Given the description of an element on the screen output the (x, y) to click on. 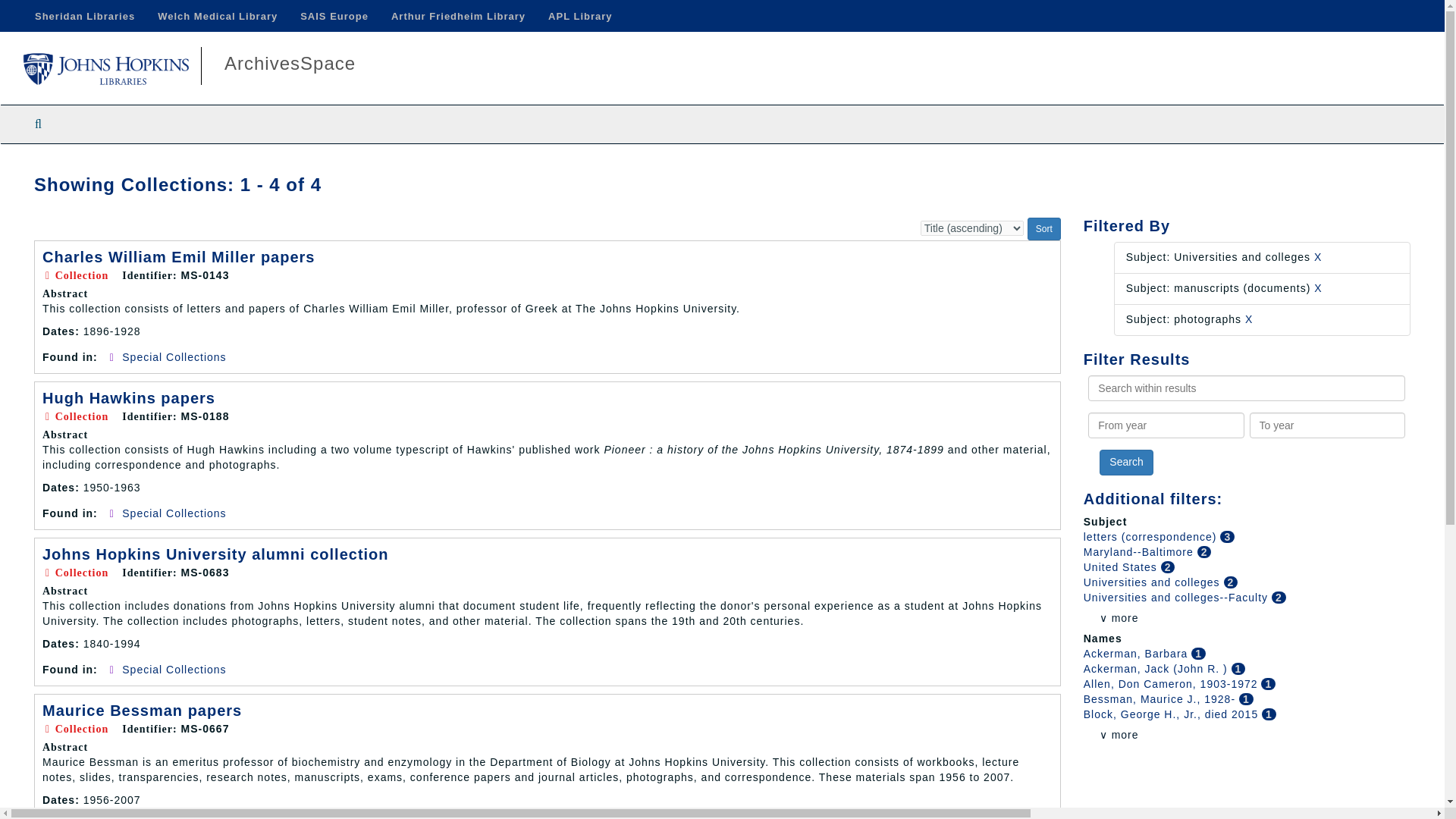
Maryland--Baltimore (1139, 551)
United States (1121, 567)
Special Collections (173, 669)
Search (1126, 462)
Filter By 'United States' (1121, 567)
Special Collections (173, 357)
Welch Medical Library (217, 15)
SAIS Europe (334, 15)
Sort (1044, 228)
Arthur Friedheim Library (458, 15)
Charles William Emil Miller papers (178, 256)
Special Collections (173, 512)
Universities and colleges (1153, 582)
Filter By 'Universities and colleges--Faculty' (1177, 597)
Johns Hopkins University alumni collection (215, 554)
